Given the description of an element on the screen output the (x, y) to click on. 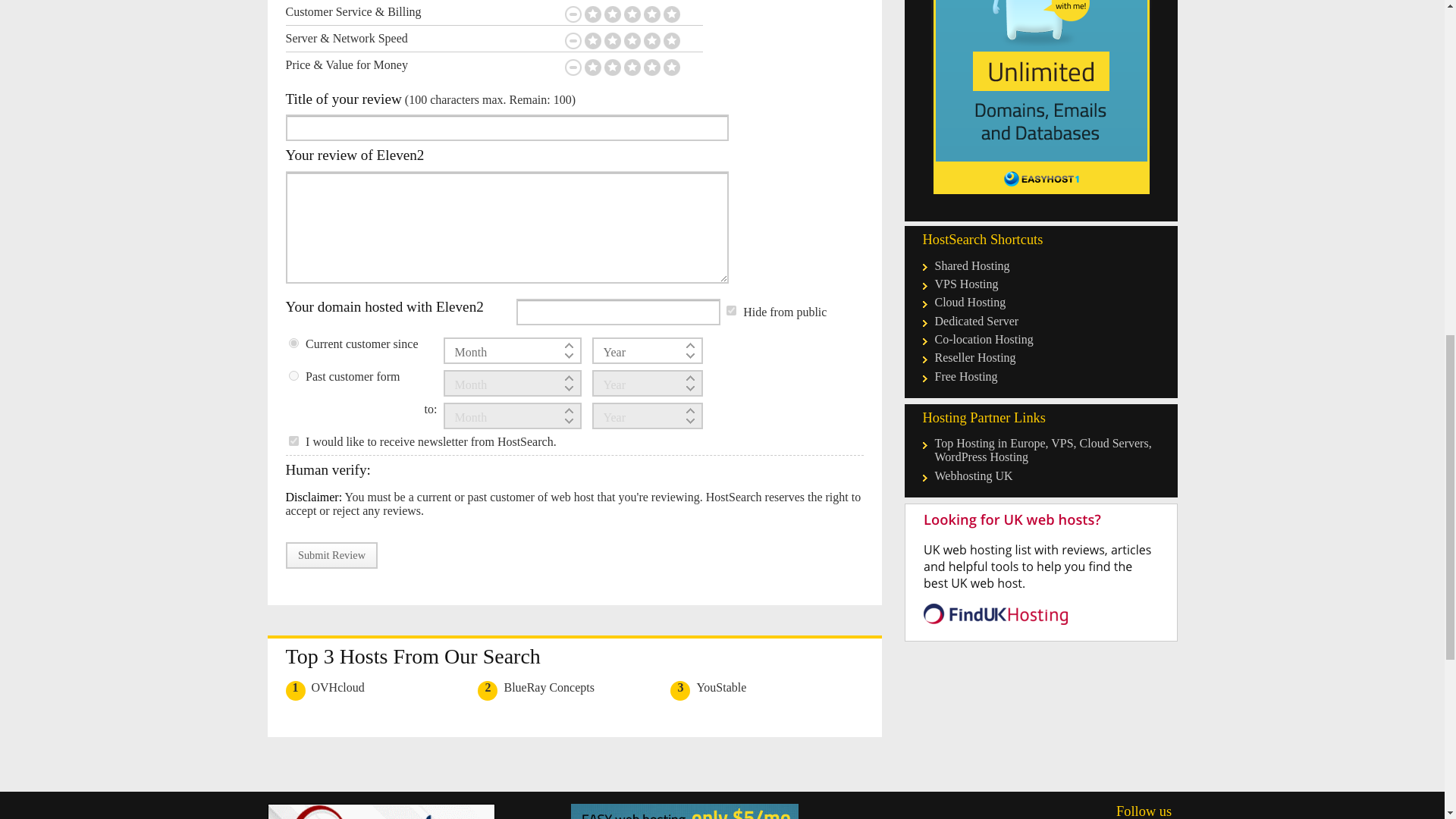
1 (293, 440)
0 (293, 375)
1 (293, 343)
1 (731, 310)
